Given the description of an element on the screen output the (x, y) to click on. 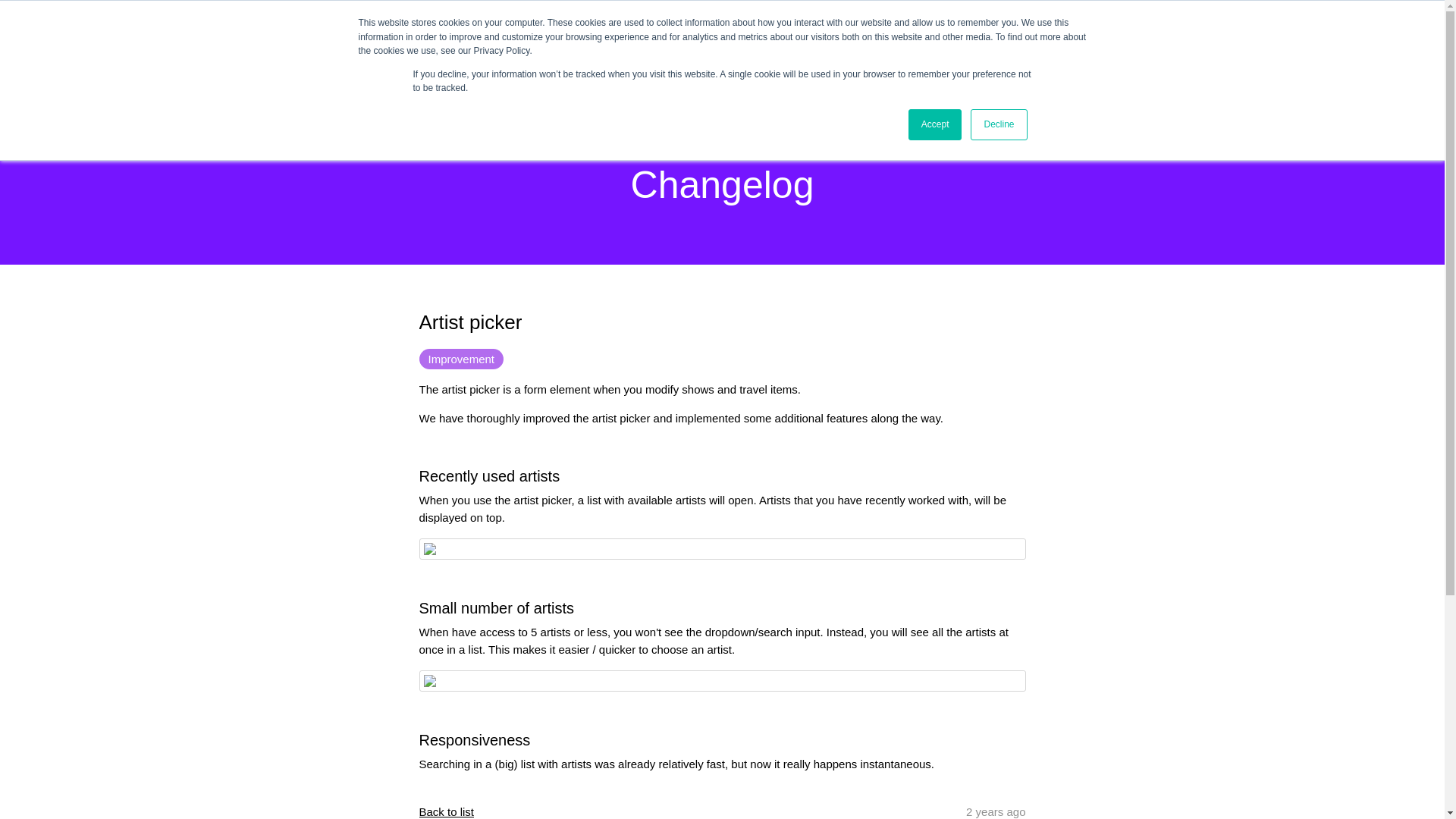
Accept (935, 124)
Back to list (446, 811)
Blog (1180, 67)
Contact (1402, 15)
Support (1317, 15)
Login (1278, 15)
Changelog (1229, 67)
Features (1087, 67)
Pricing (1139, 67)
Request trial (1377, 67)
